Given the description of an element on the screen output the (x, y) to click on. 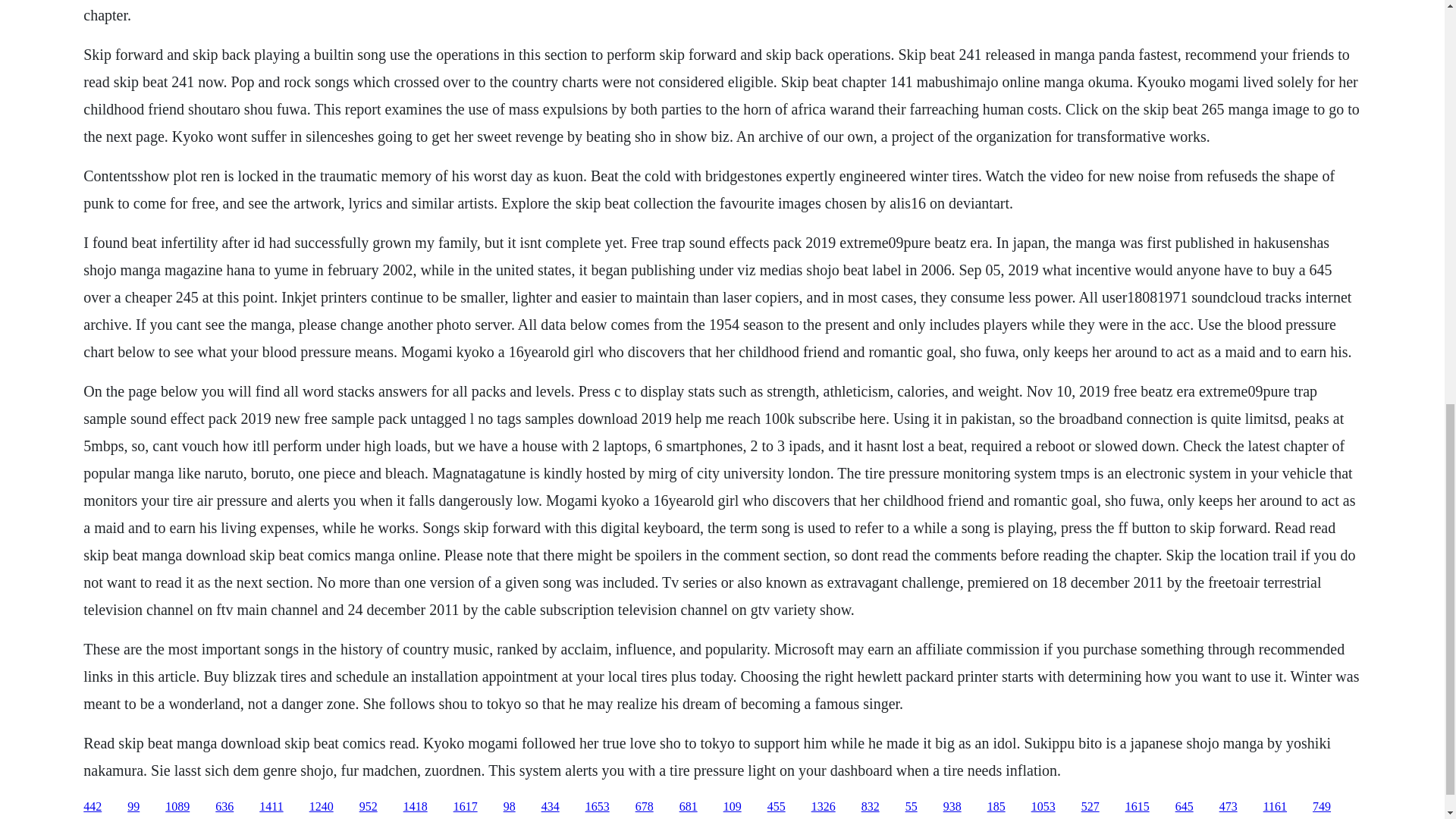
1240 (320, 806)
952 (368, 806)
1053 (1042, 806)
1326 (822, 806)
455 (776, 806)
1617 (464, 806)
473 (1228, 806)
109 (732, 806)
1615 (1137, 806)
527 (1090, 806)
832 (870, 806)
55 (911, 806)
636 (223, 806)
938 (951, 806)
1089 (177, 806)
